Given the description of an element on the screen output the (x, y) to click on. 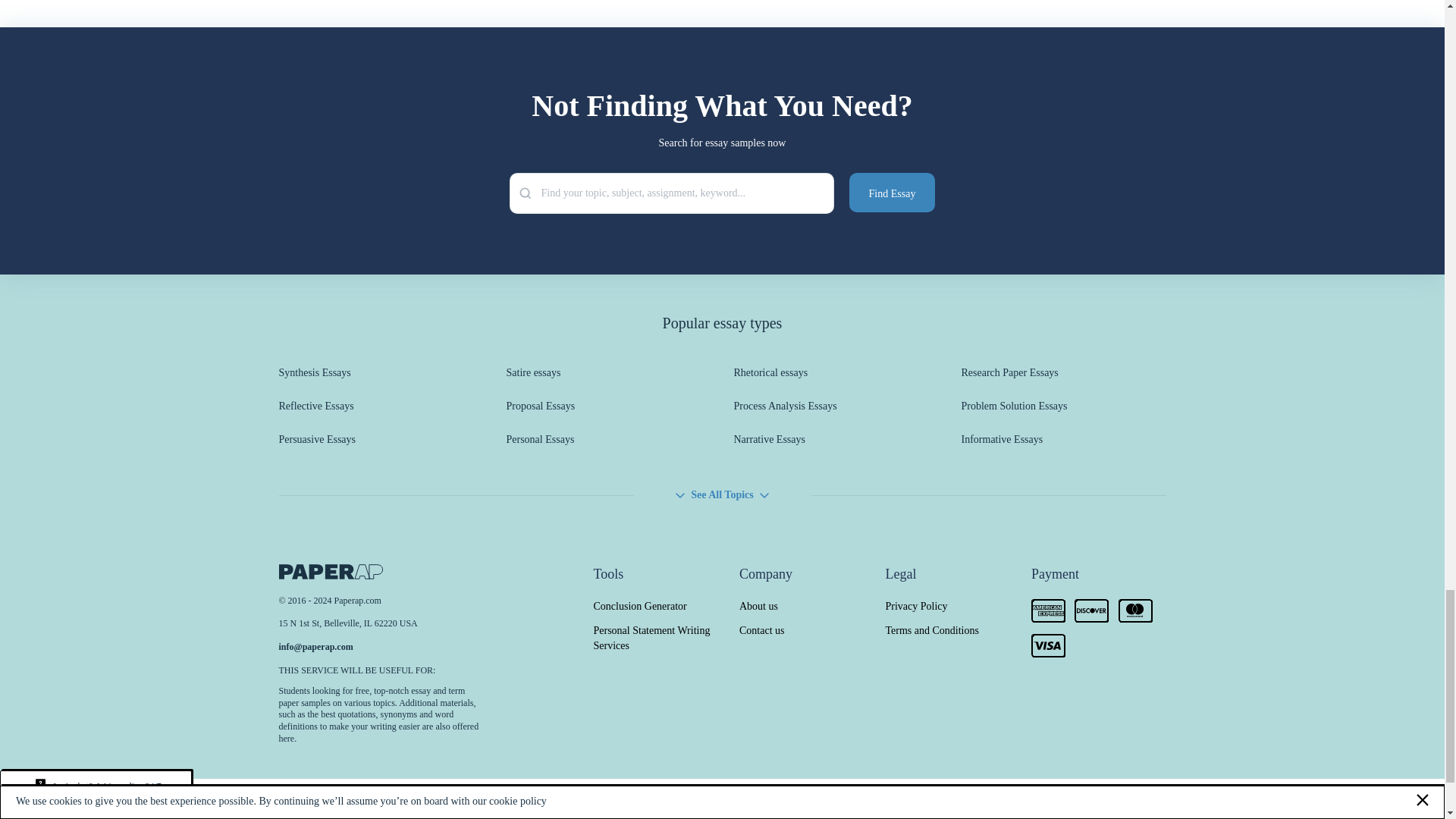
Find Essay (892, 192)
